Given the description of an element on the screen output the (x, y) to click on. 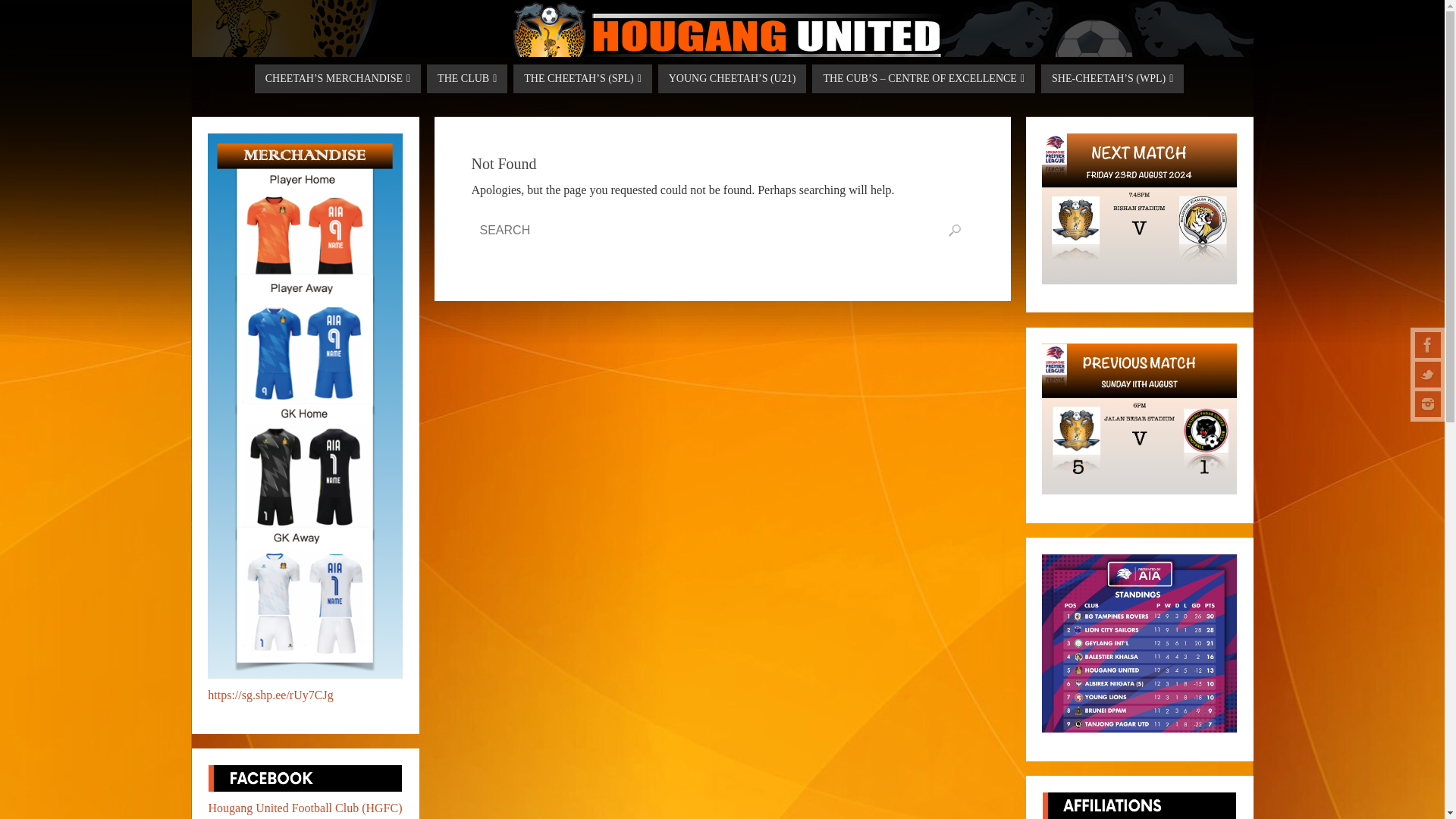
Twitter (1428, 374)
Facebook (1428, 344)
THE CLUB (466, 78)
Instagram (1428, 403)
